Given the description of an element on the screen output the (x, y) to click on. 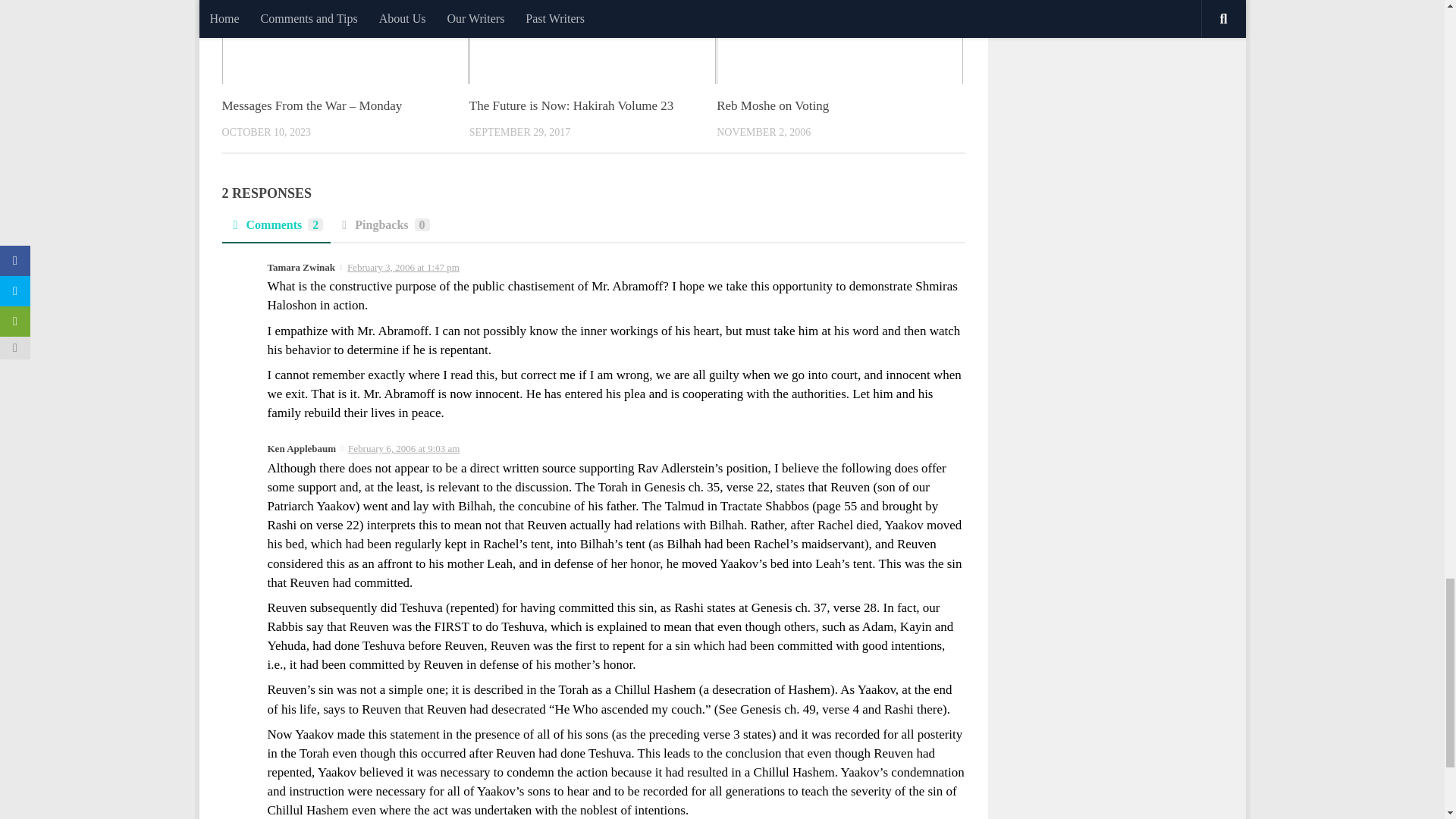
February 6, 2006 at 9:03 am (403, 448)
February 3, 2006 at 1:47 pm (403, 266)
The Future is Now: Hakirah Volume 23 (570, 105)
Pingbacks0 (383, 229)
Comments2 (275, 229)
Reb Moshe on Voting (772, 105)
